Given the description of an element on the screen output the (x, y) to click on. 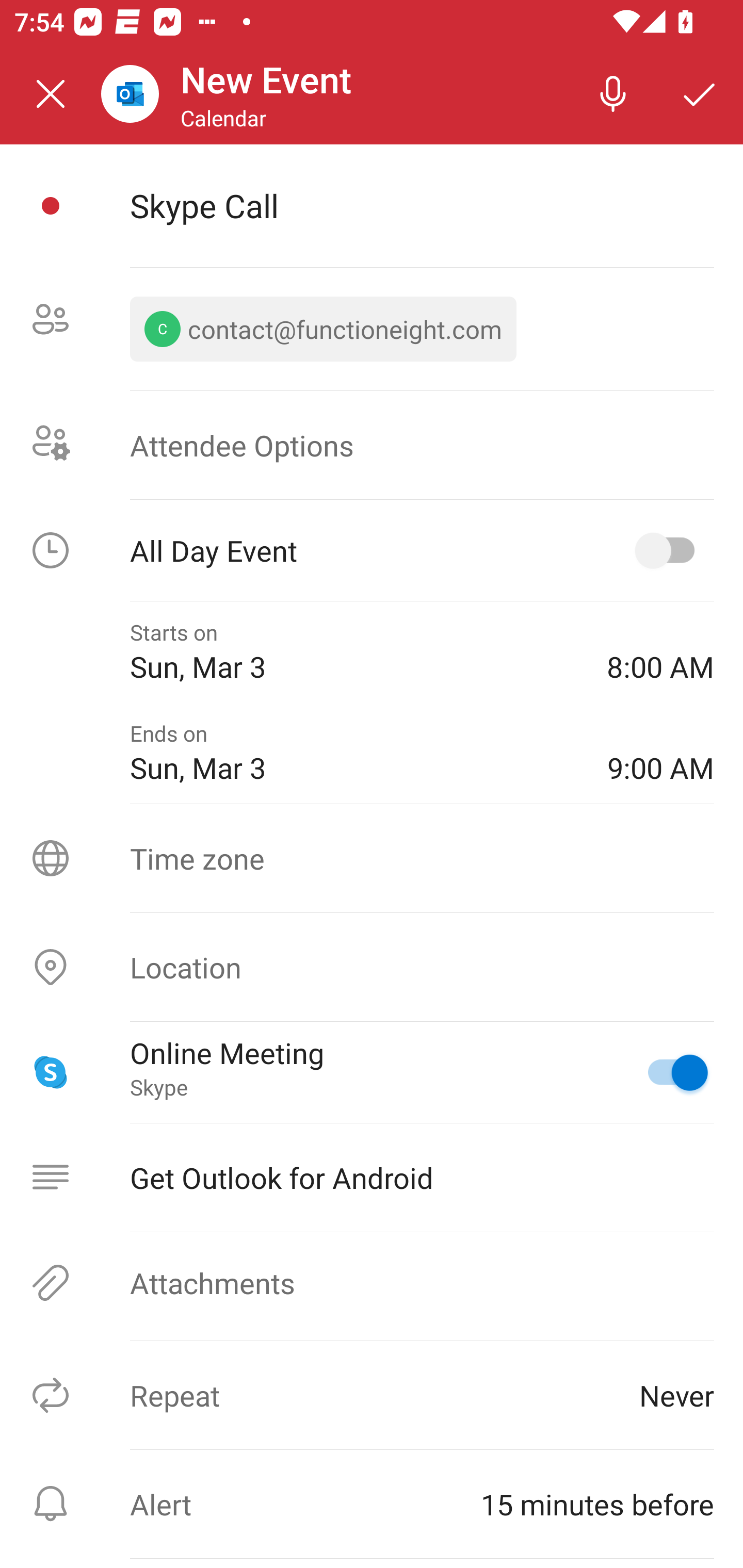
Close (50, 93)
Save (699, 93)
Skype Call (422, 205)
Event icon picker (50, 206)
Attendee Options (371, 444)
All Day Event (371, 550)
Starts on Sun, Mar 3 (353, 652)
8:00 AM (660, 652)
Ends on Sun, Mar 3 (353, 752)
9:00 AM (660, 752)
Time zone (371, 858)
Location (371, 966)
Online Meeting, Skype selected (669, 1072)
Attachments (371, 1282)
Repeat Never (371, 1394)
Alert ⁨15 minutes before (371, 1504)
